Given the description of an element on the screen output the (x, y) to click on. 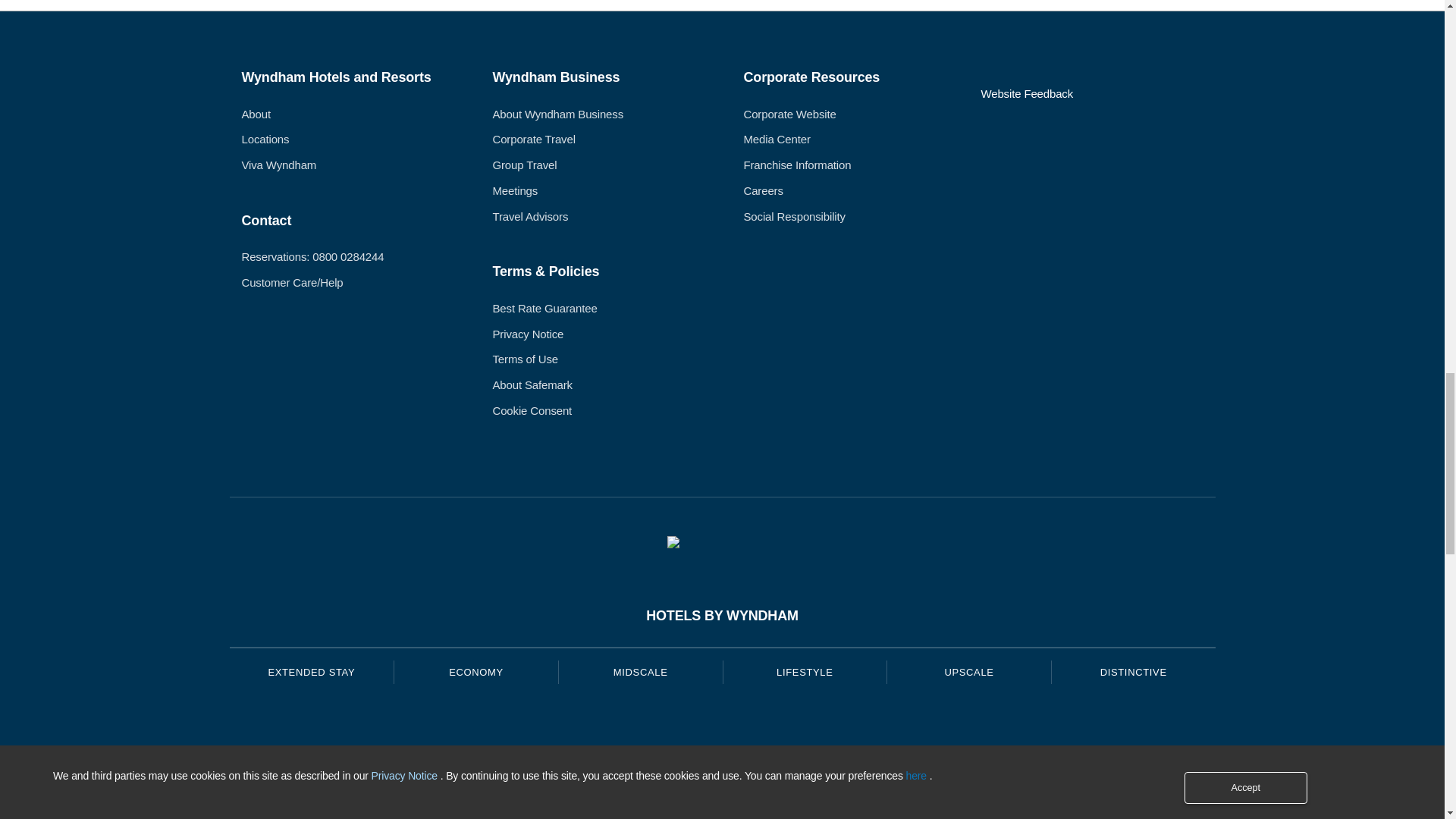
Days Inn (475, 724)
Wyndham Garden (640, 816)
Wyndham Rewards (721, 543)
Microtel by Wyndham (475, 816)
Microtel by Wyndham (475, 816)
Super 8 (475, 780)
Wyndham Hotels and Resorts (967, 726)
La Quinta (640, 724)
TRYP by Wyndham (803, 726)
Esplendor by Wyndham (803, 780)
